Given the description of an element on the screen output the (x, y) to click on. 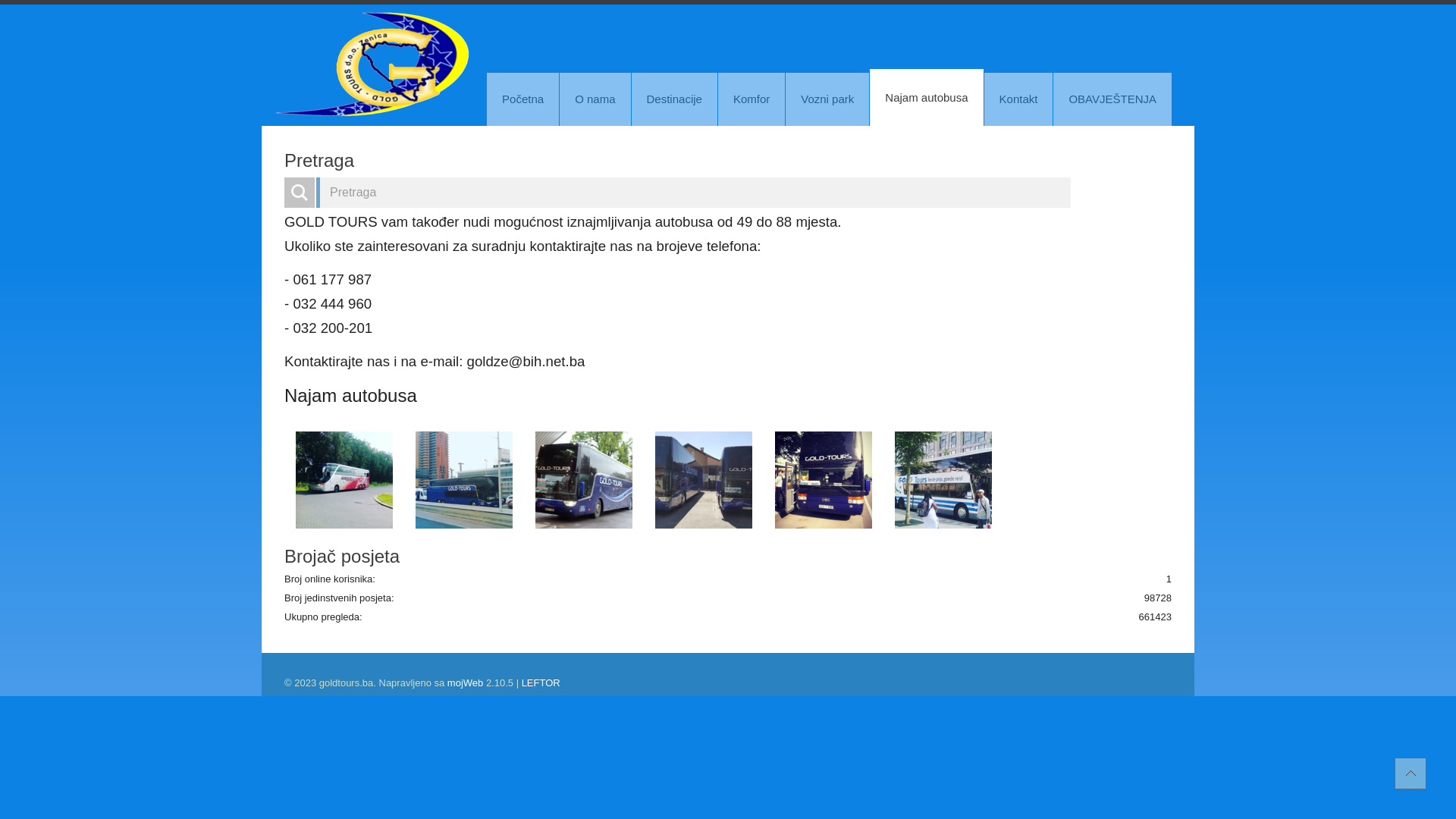
mojWeb Element type: text (465, 682)
Kontakt Element type: text (1018, 98)
Destinacije Element type: text (674, 98)
O nama Element type: text (594, 98)
Vozni park Element type: text (827, 98)
Komfor Element type: text (751, 98)
Najam autobusa Element type: text (925, 97)
LEFTOR Element type: text (540, 682)
